Given the description of an element on the screen output the (x, y) to click on. 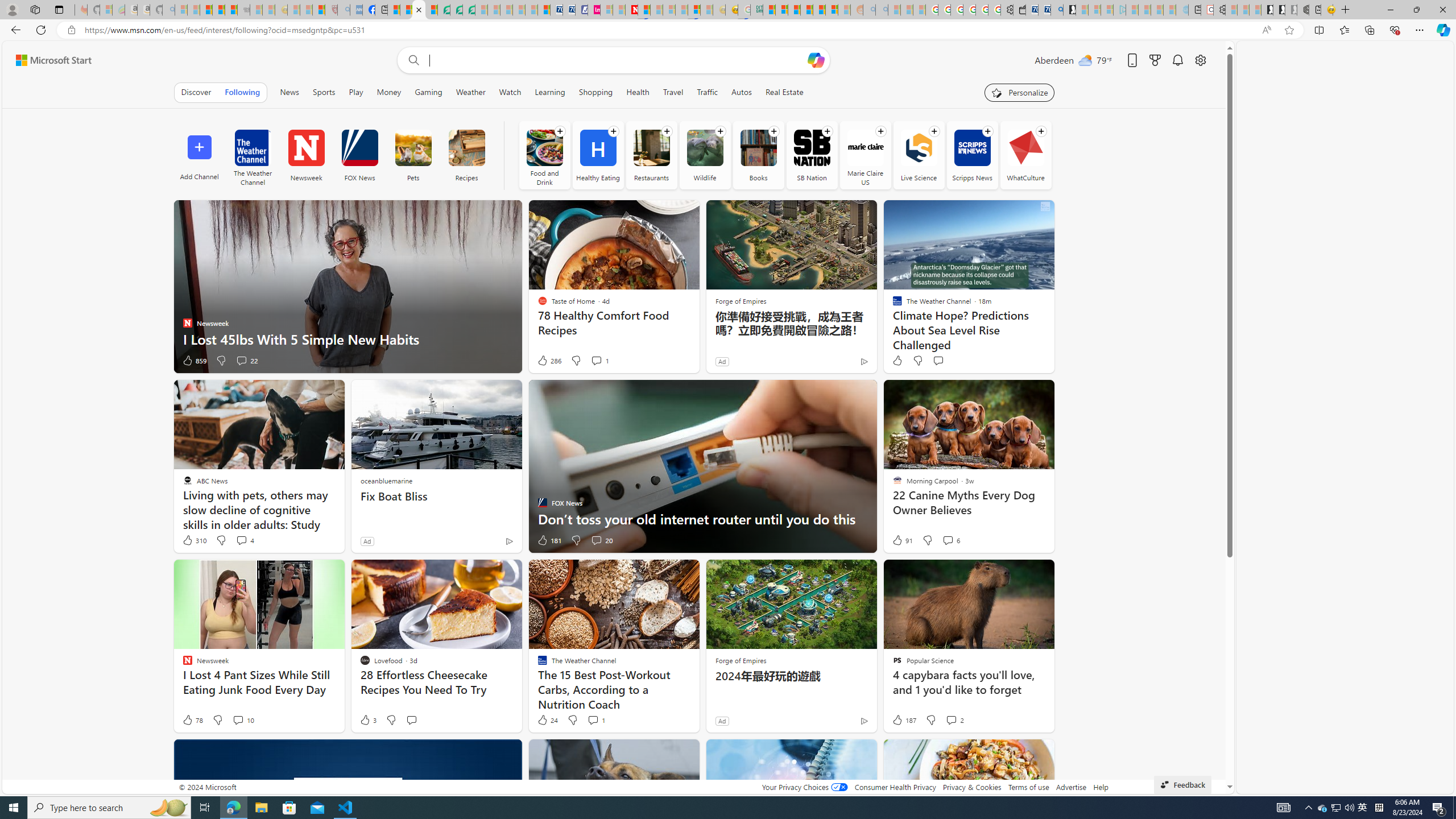
Restaurants (651, 155)
Books (758, 147)
286 Like (548, 360)
WhatCulture (1025, 155)
Food and Drink (544, 147)
24 Like (546, 719)
